Given the description of an element on the screen output the (x, y) to click on. 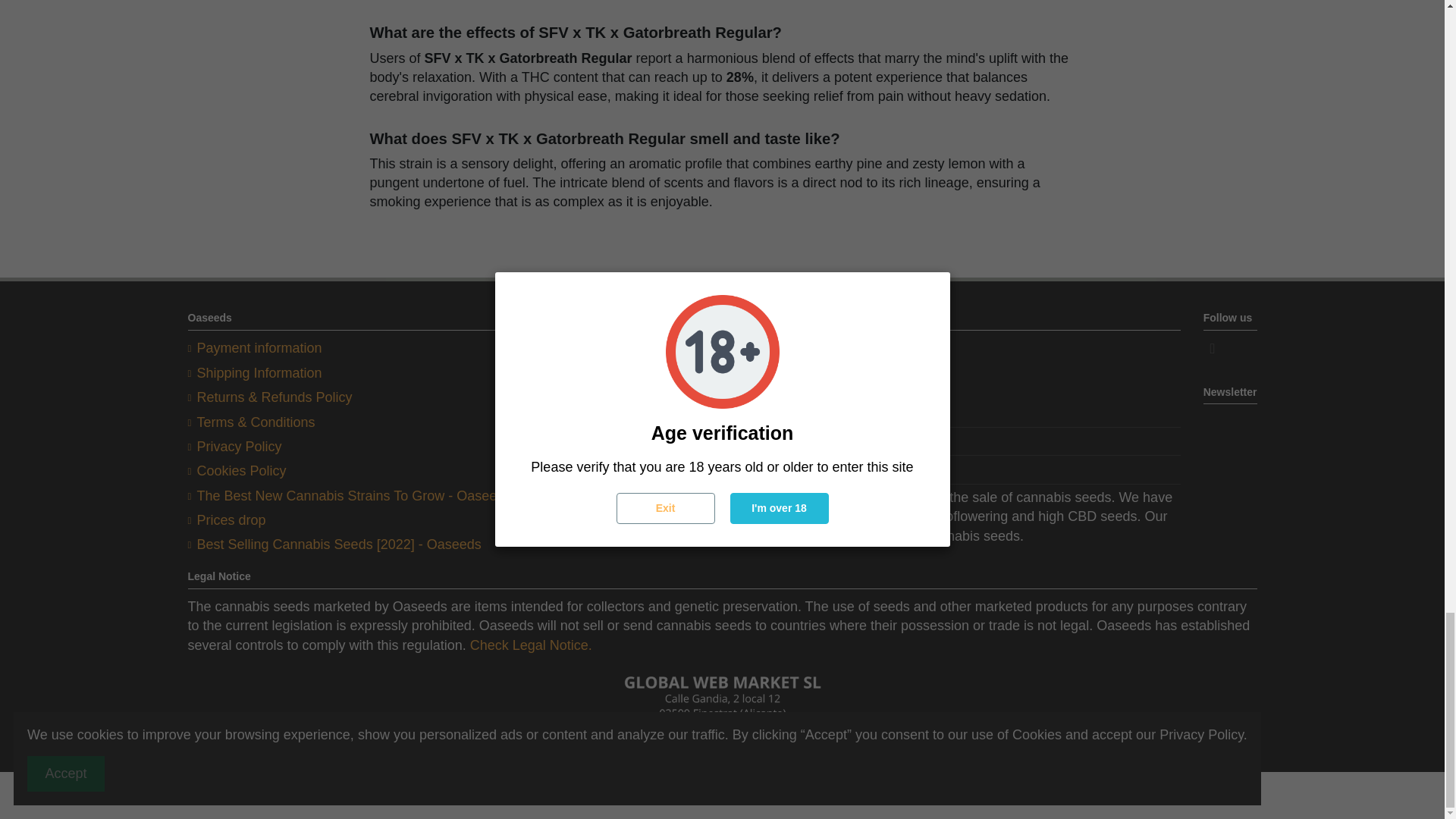
Cookies Policy (236, 470)
Our terms and conditions of delivery (254, 373)
